Given the description of an element on the screen output the (x, y) to click on. 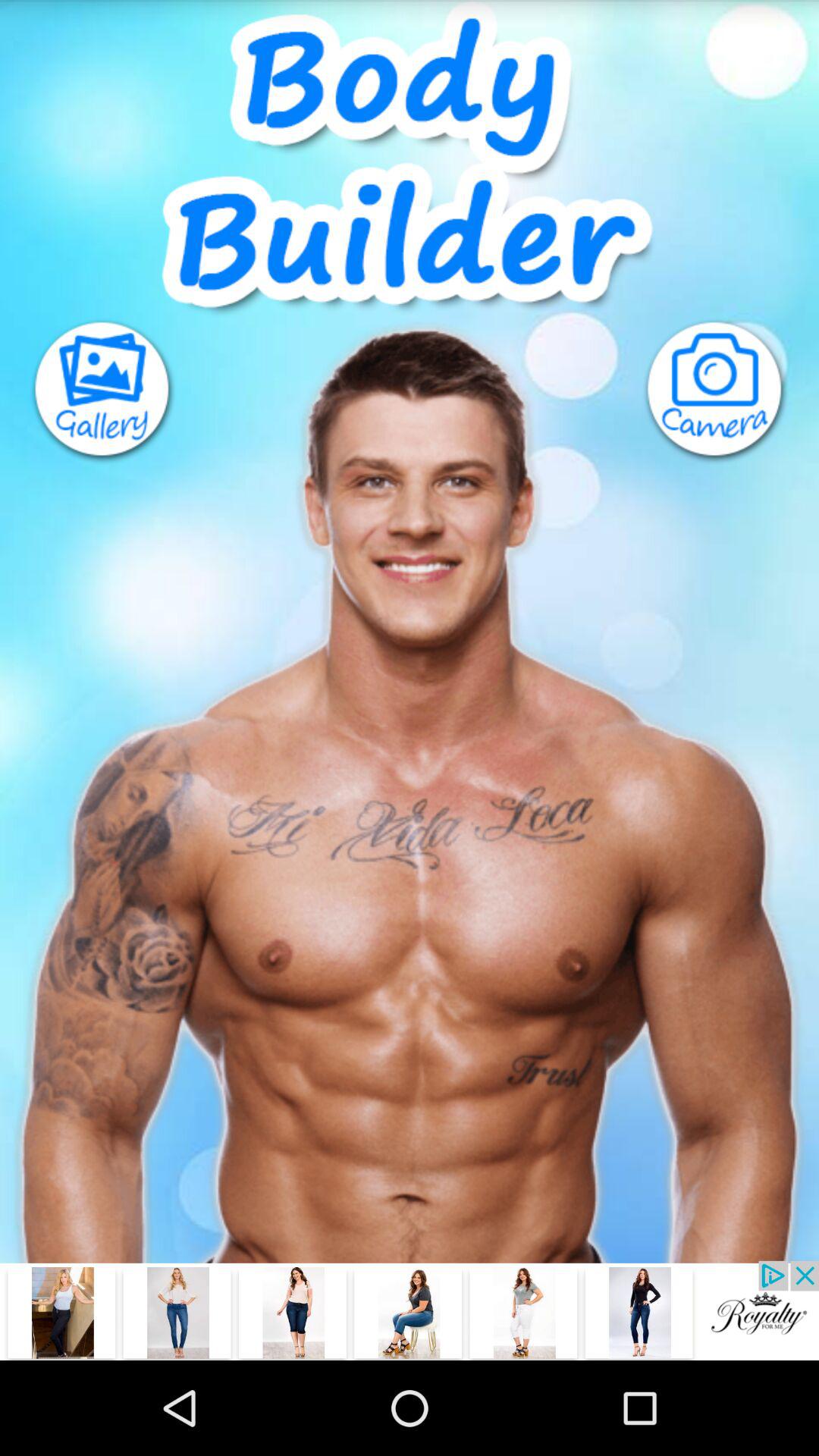
go to camera (730, 391)
